Given the description of an element on the screen output the (x, y) to click on. 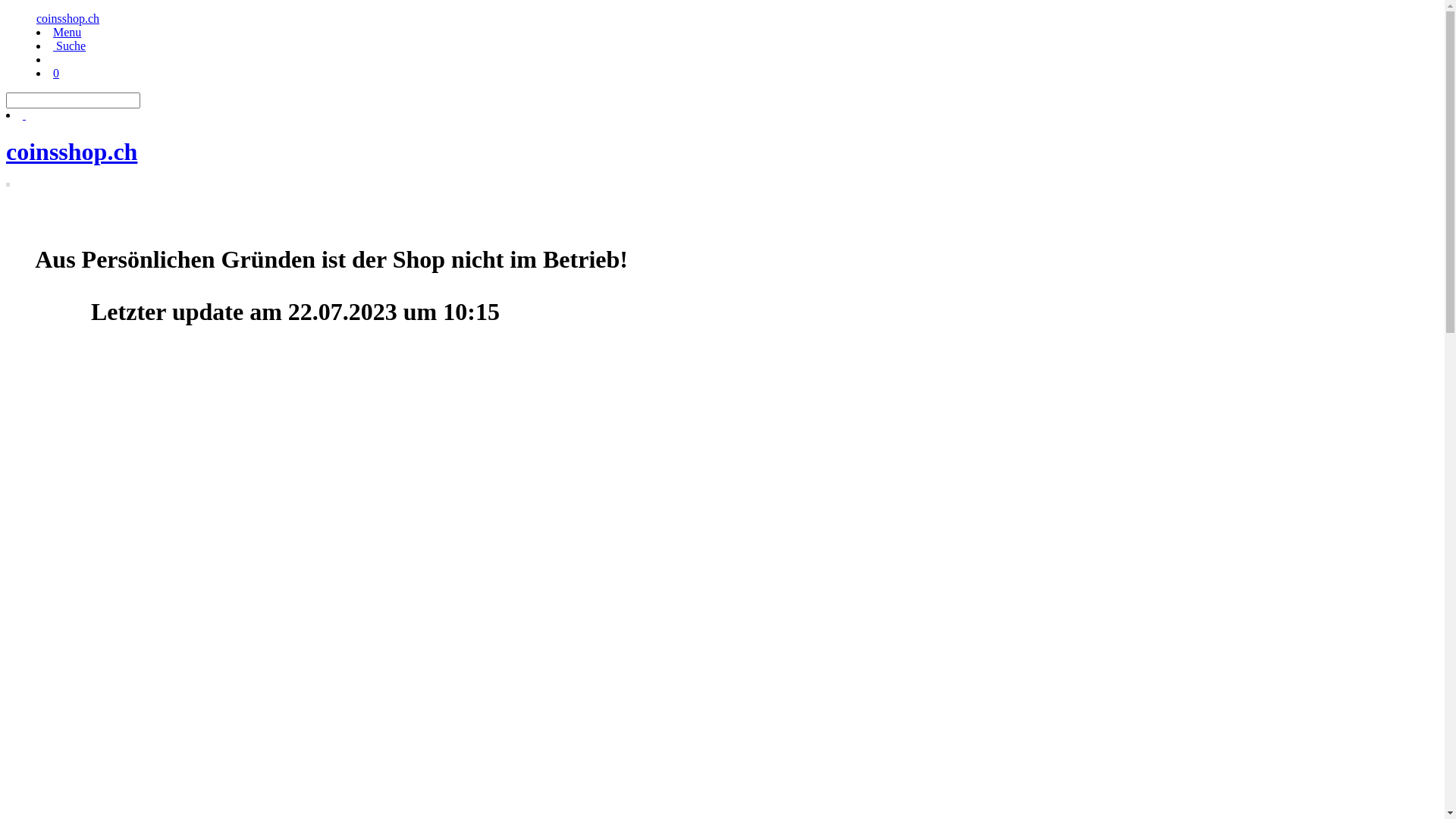
Menu Element type: text (67, 31)
Suche Element type: hover (23, 114)
0 Element type: text (56, 72)
 Suche Element type: text (69, 45)
  Element type: text (23, 114)
coinsshop.ch Element type: text (67, 18)
coinsshop.ch Element type: text (722, 152)
